Given the description of an element on the screen output the (x, y) to click on. 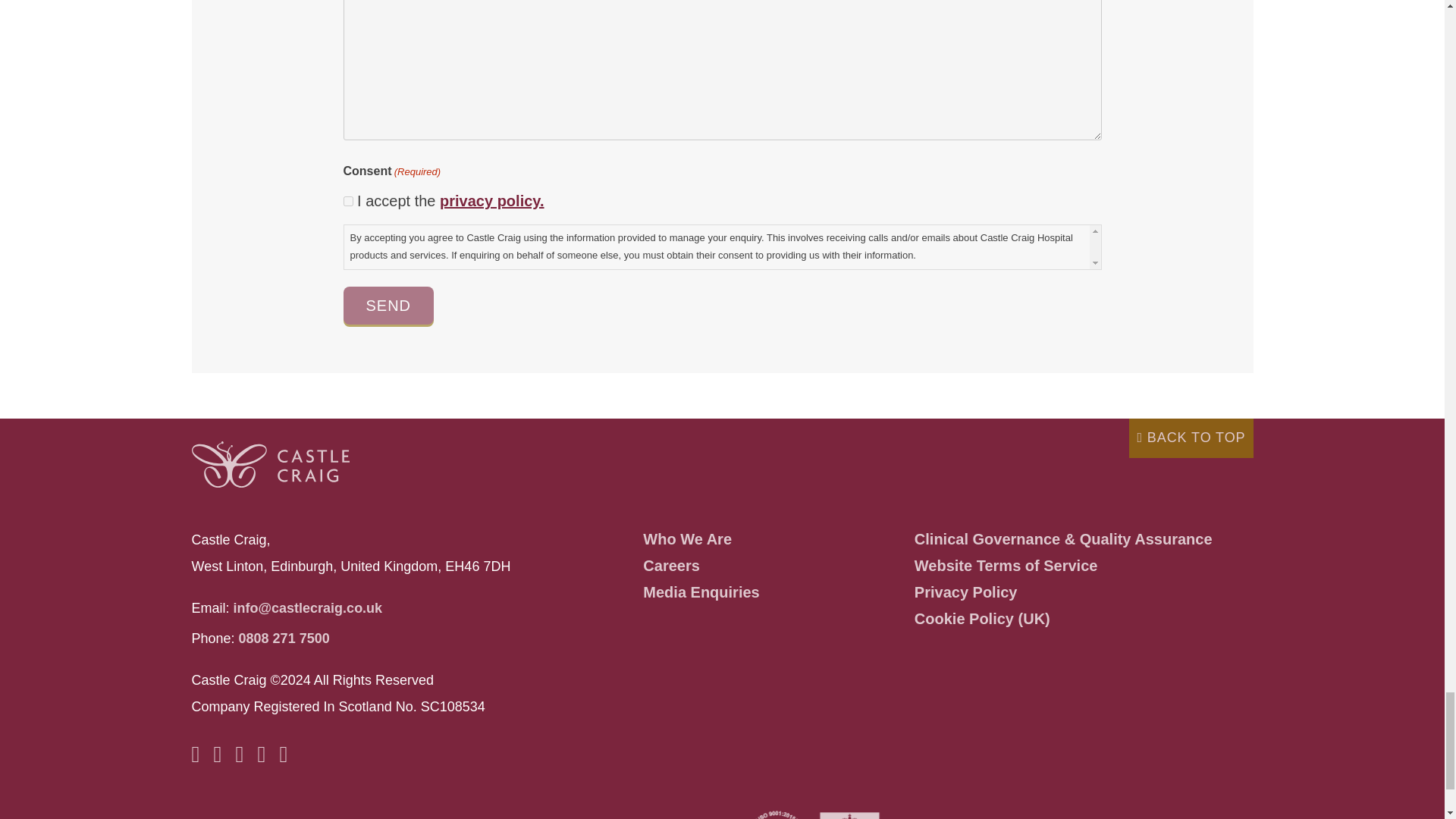
1 (347, 201)
Call Castle Craig (284, 638)
Send (387, 305)
